Given the description of an element on the screen output the (x, y) to click on. 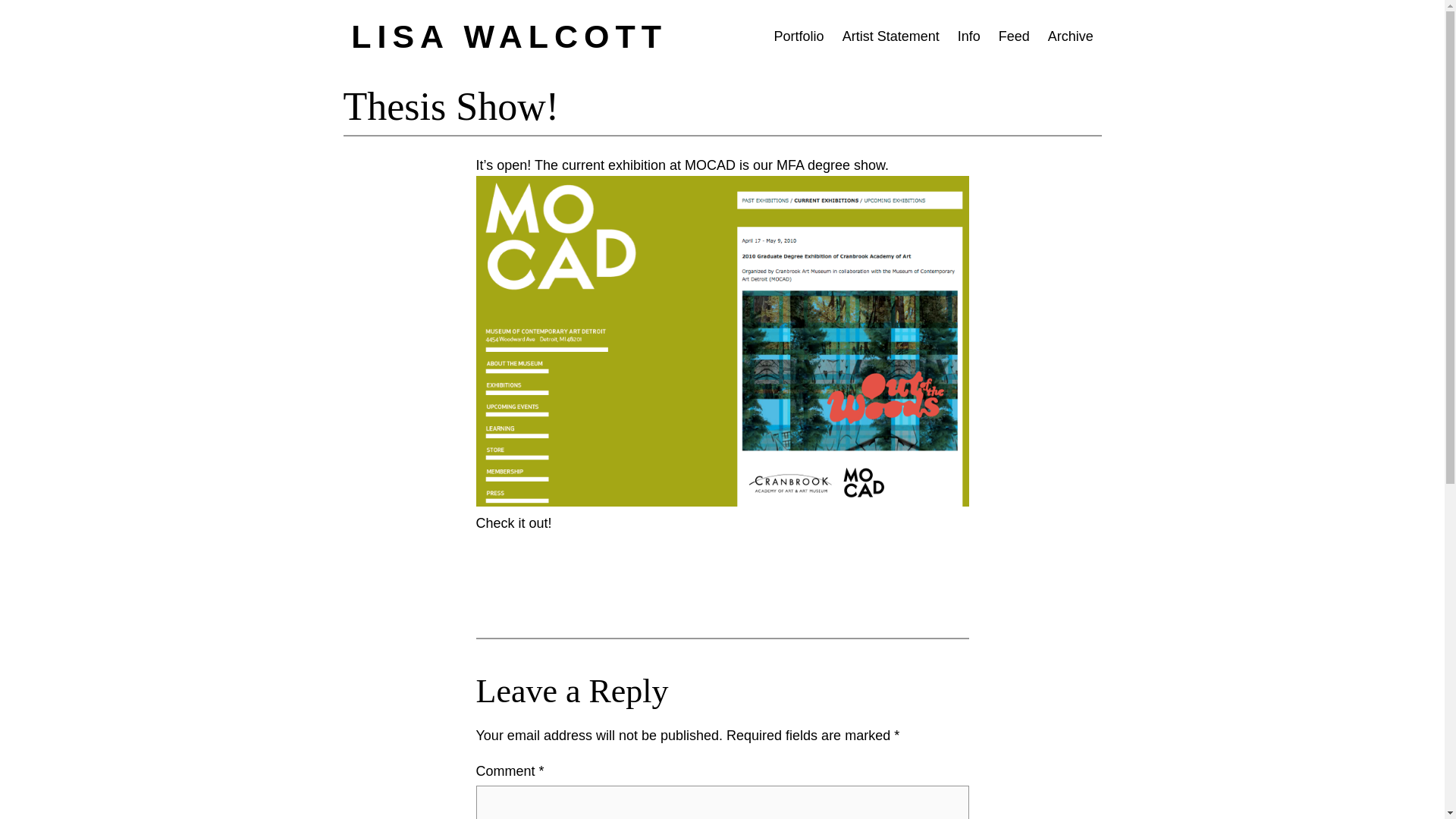
Feed (1013, 36)
Archive (1070, 36)
Info (968, 36)
LISA WALCOTT (508, 36)
Artist Statement (891, 36)
Portfolio (799, 36)
